Given the description of an element on the screen output the (x, y) to click on. 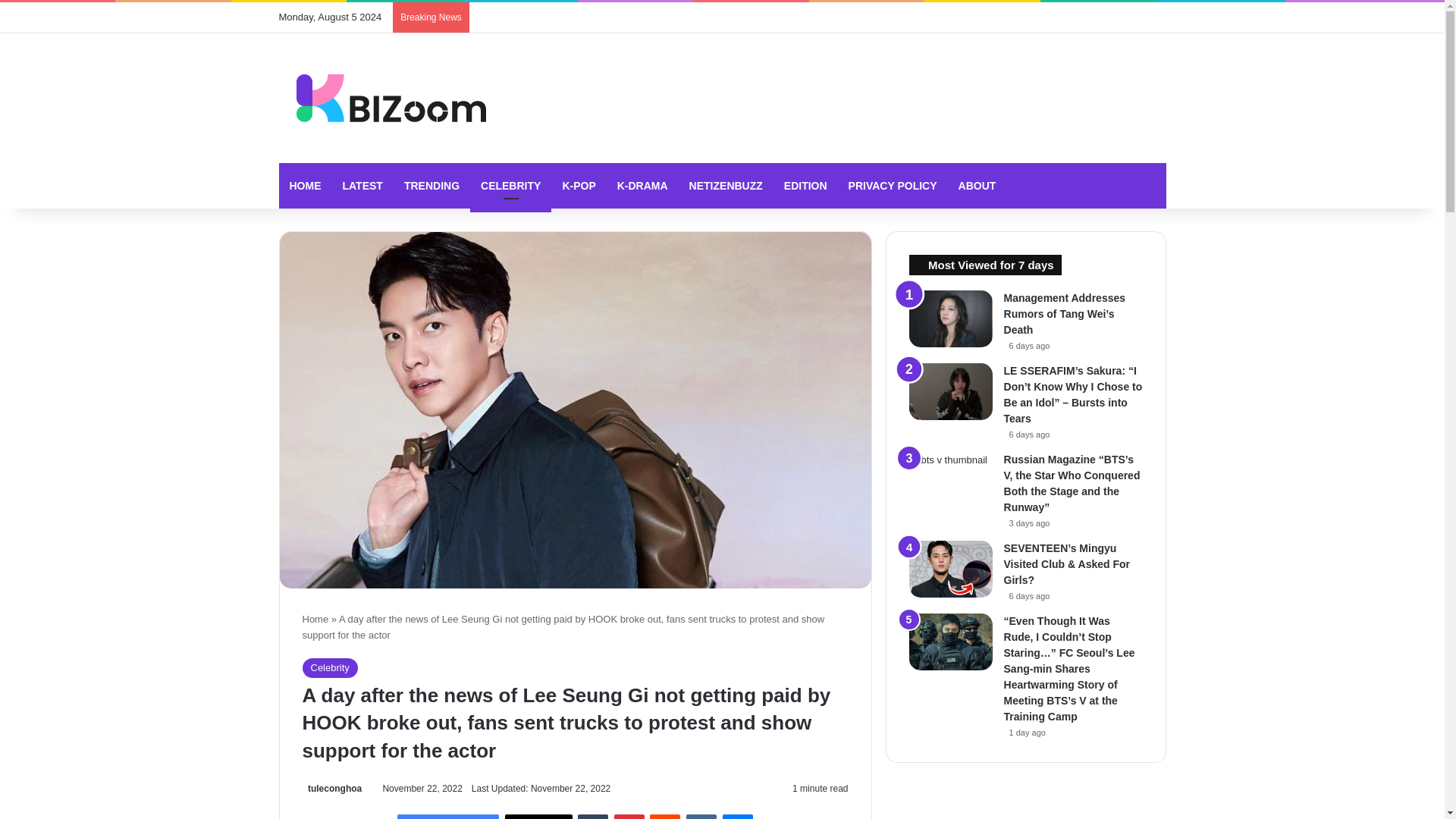
Celebrity (328, 668)
LATEST (362, 185)
X (538, 816)
VKontakte (700, 816)
NETIZENBUZZ (725, 185)
ABOUT (977, 185)
PRIVACY POLICY (892, 185)
K-DRAMA (642, 185)
Pinterest (629, 816)
Tumblr (593, 816)
